Given the description of an element on the screen output the (x, y) to click on. 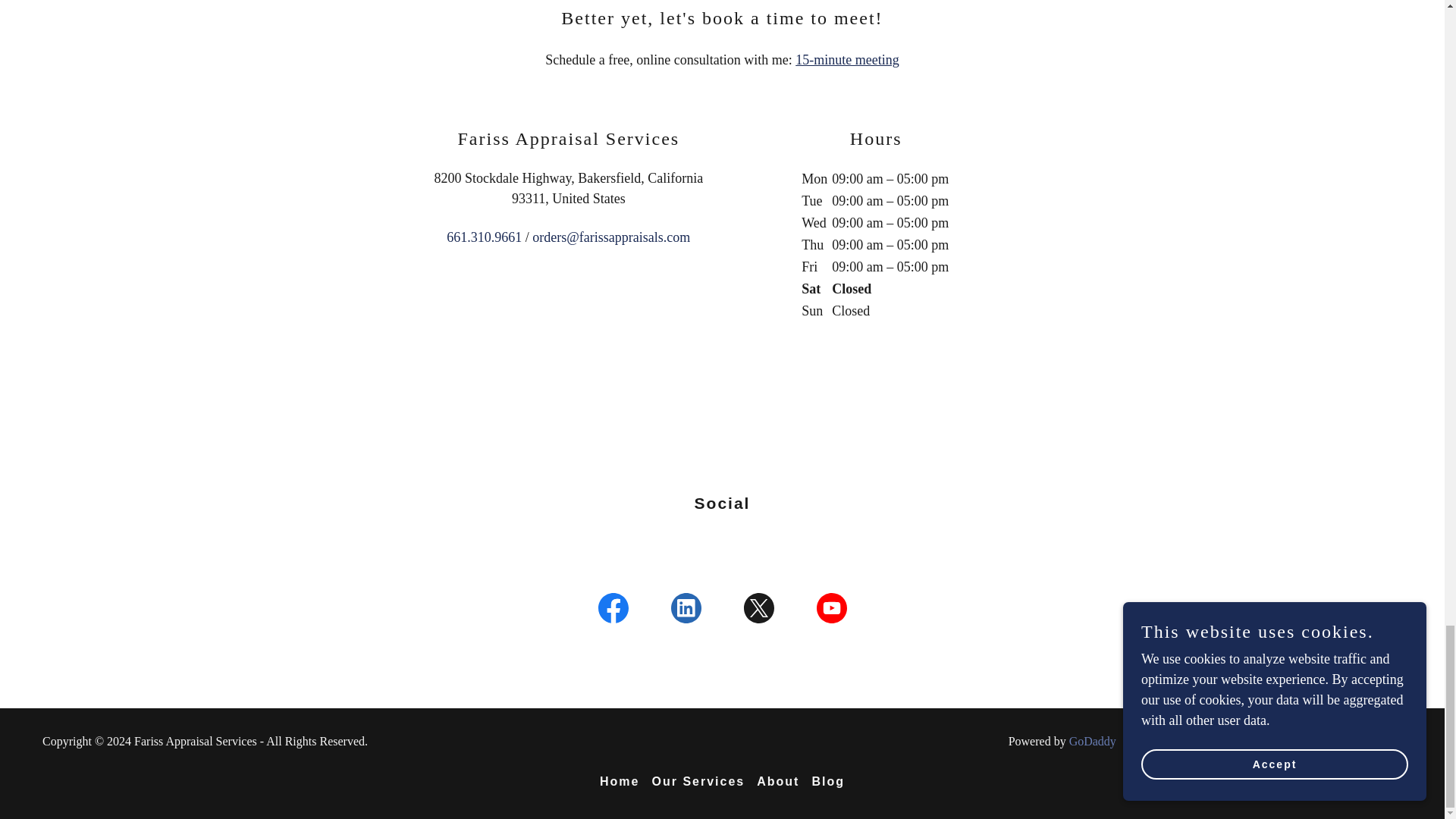
Our Services (698, 781)
661.310.9661 (483, 237)
About (778, 781)
GoDaddy (1092, 740)
Home (619, 781)
Blog (827, 781)
15-minute meeting (846, 59)
